Given the description of an element on the screen output the (x, y) to click on. 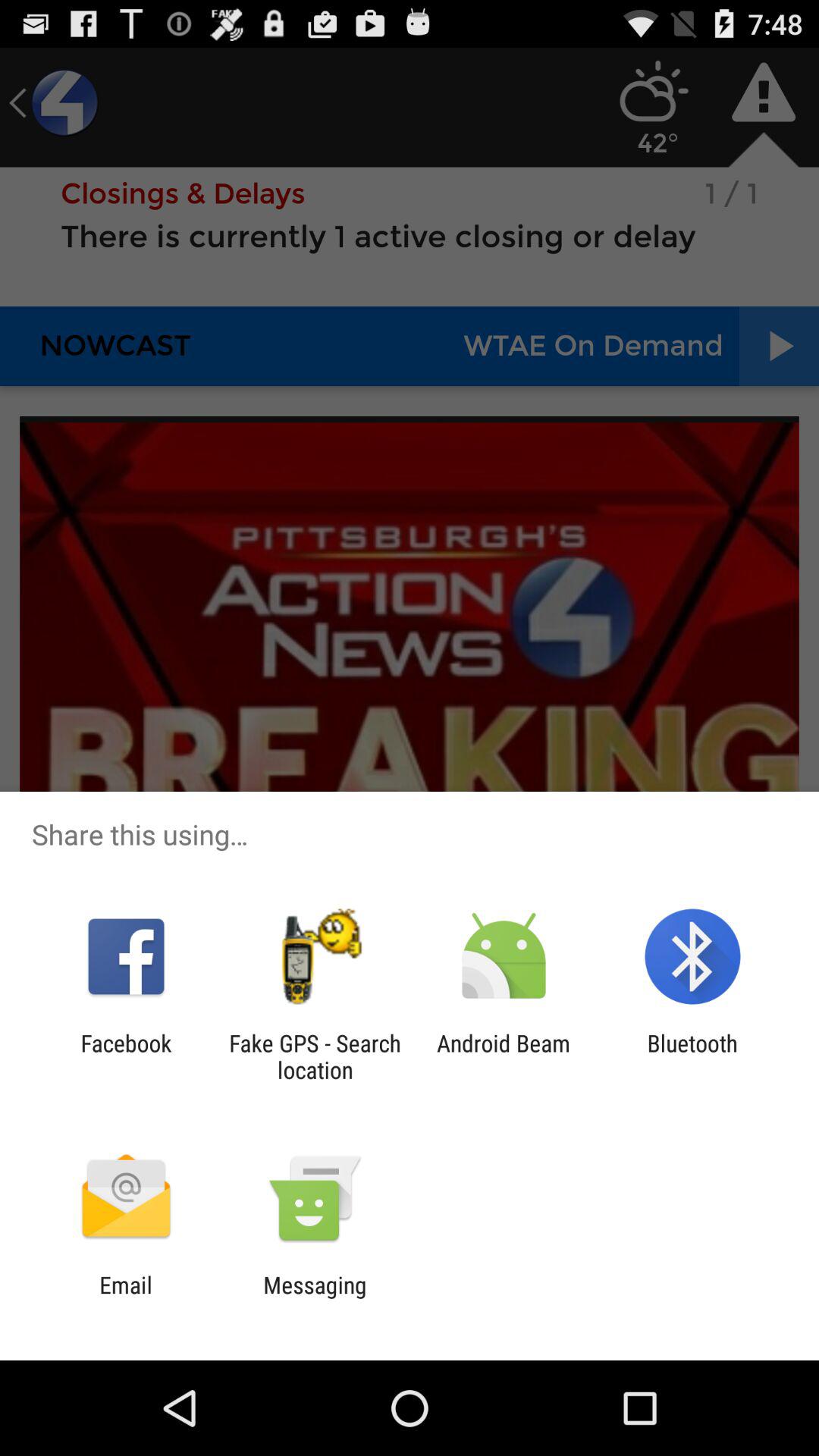
tap the app next to the android beam item (692, 1056)
